Given the description of an element on the screen output the (x, y) to click on. 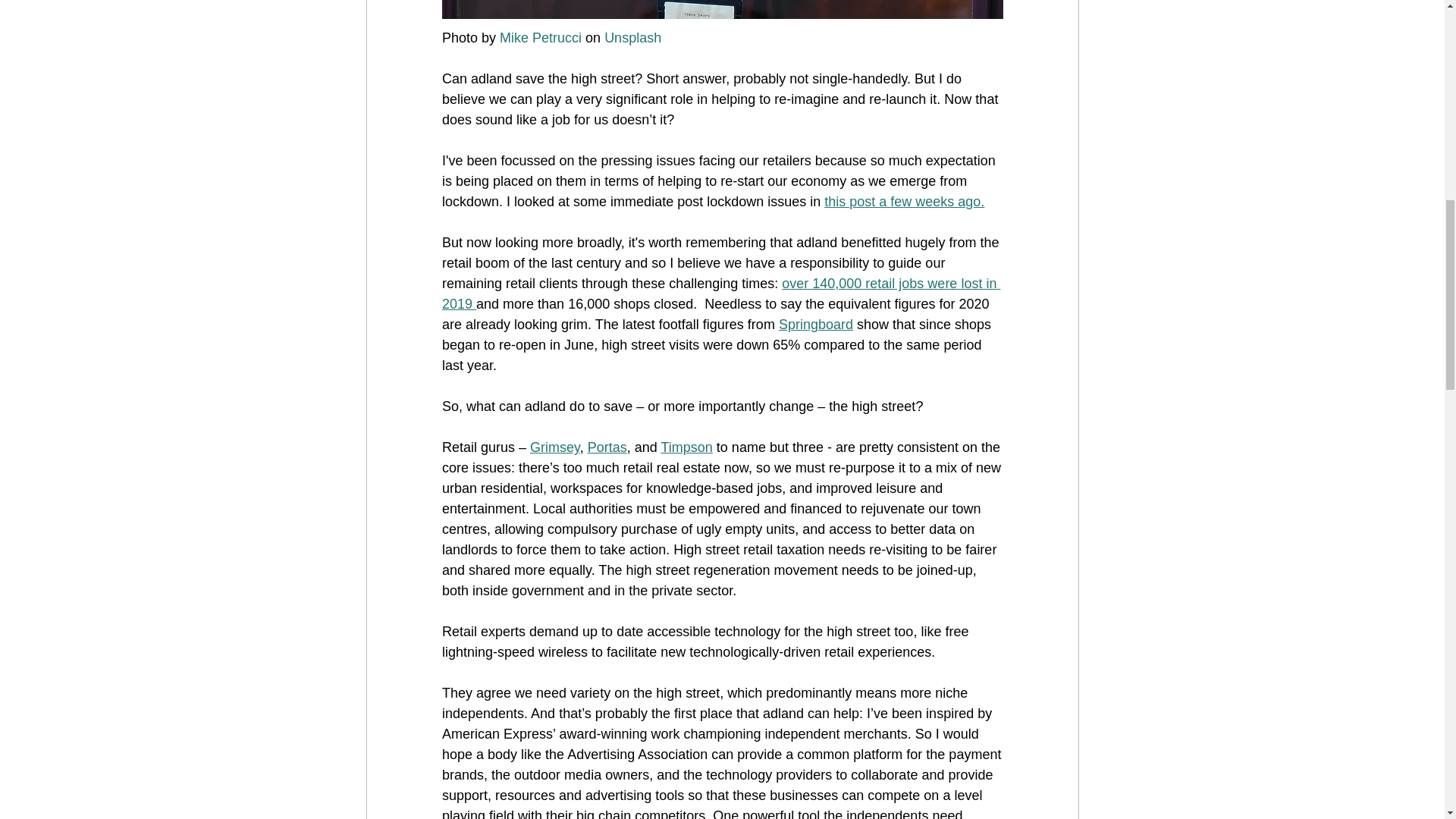
this post a few weeks ago. (904, 201)
Mike Petrucci (539, 37)
Grimsey (554, 447)
over 140,000 retail jobs were lost in 2019  (719, 294)
Unsplash (632, 37)
Portas (606, 447)
Springboard (814, 324)
Timpson (686, 447)
